Given the description of an element on the screen output the (x, y) to click on. 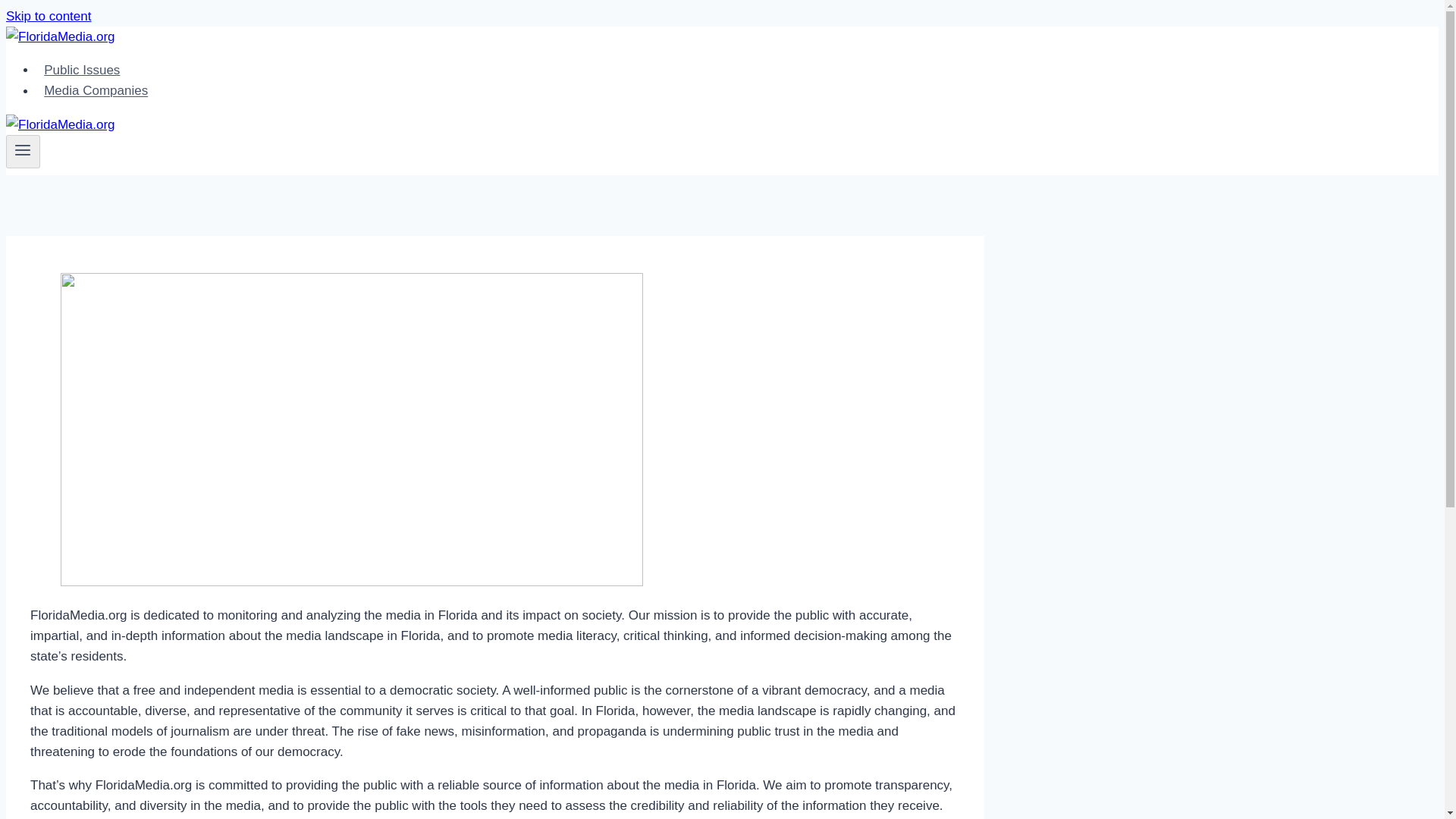
Toggle Menu (22, 149)
Skip to content (47, 16)
Media Companies (95, 90)
Toggle Menu (22, 151)
Skip to content (47, 16)
Public Issues (82, 70)
